Given the description of an element on the screen output the (x, y) to click on. 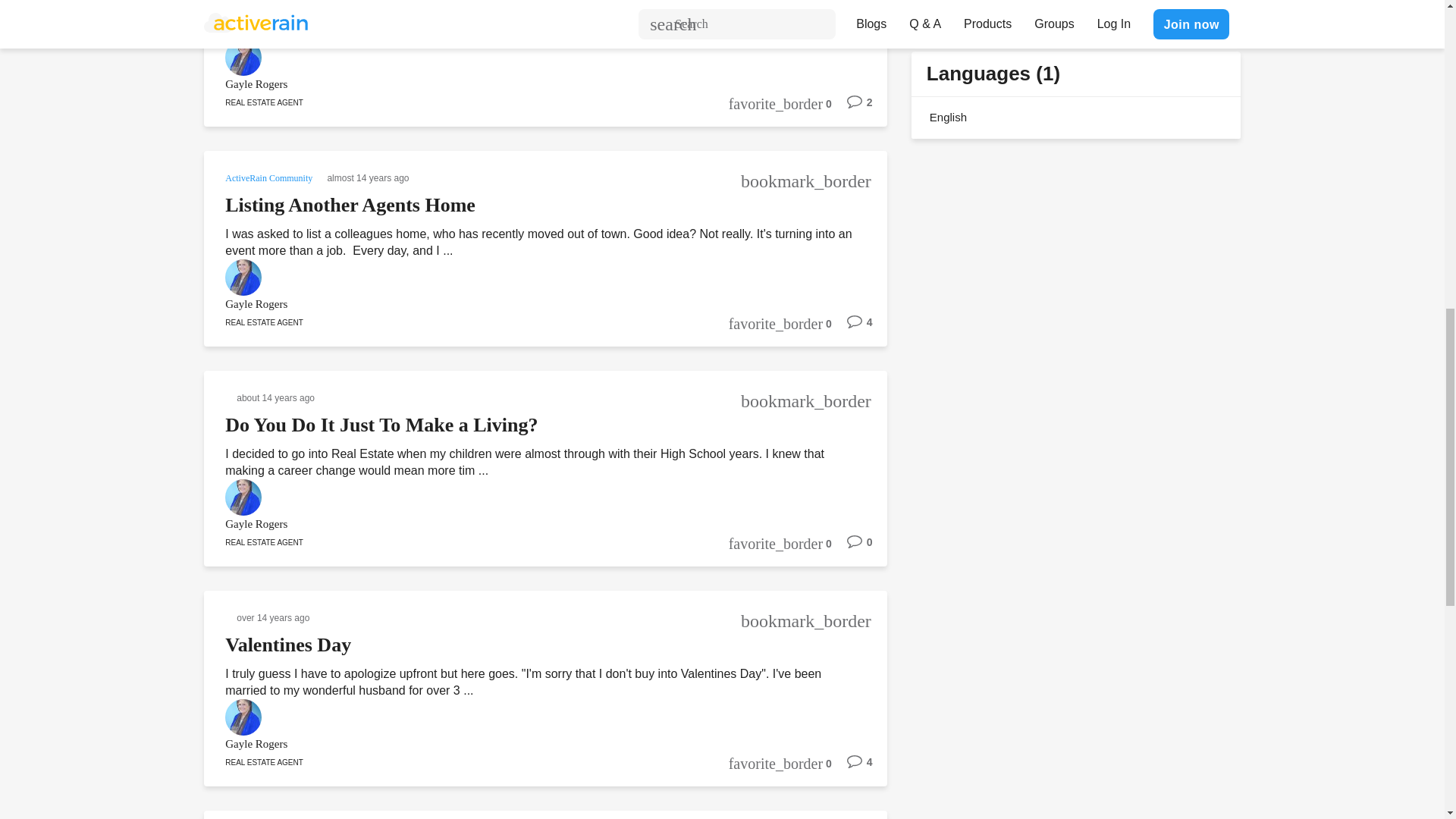
ActiveRain Community (270, 176)
2 (851, 107)
Listing Another Agents Home (350, 205)
Gayle Rogers (525, 84)
4 (851, 327)
Gayle Rogers (525, 303)
